Given the description of an element on the screen output the (x, y) to click on. 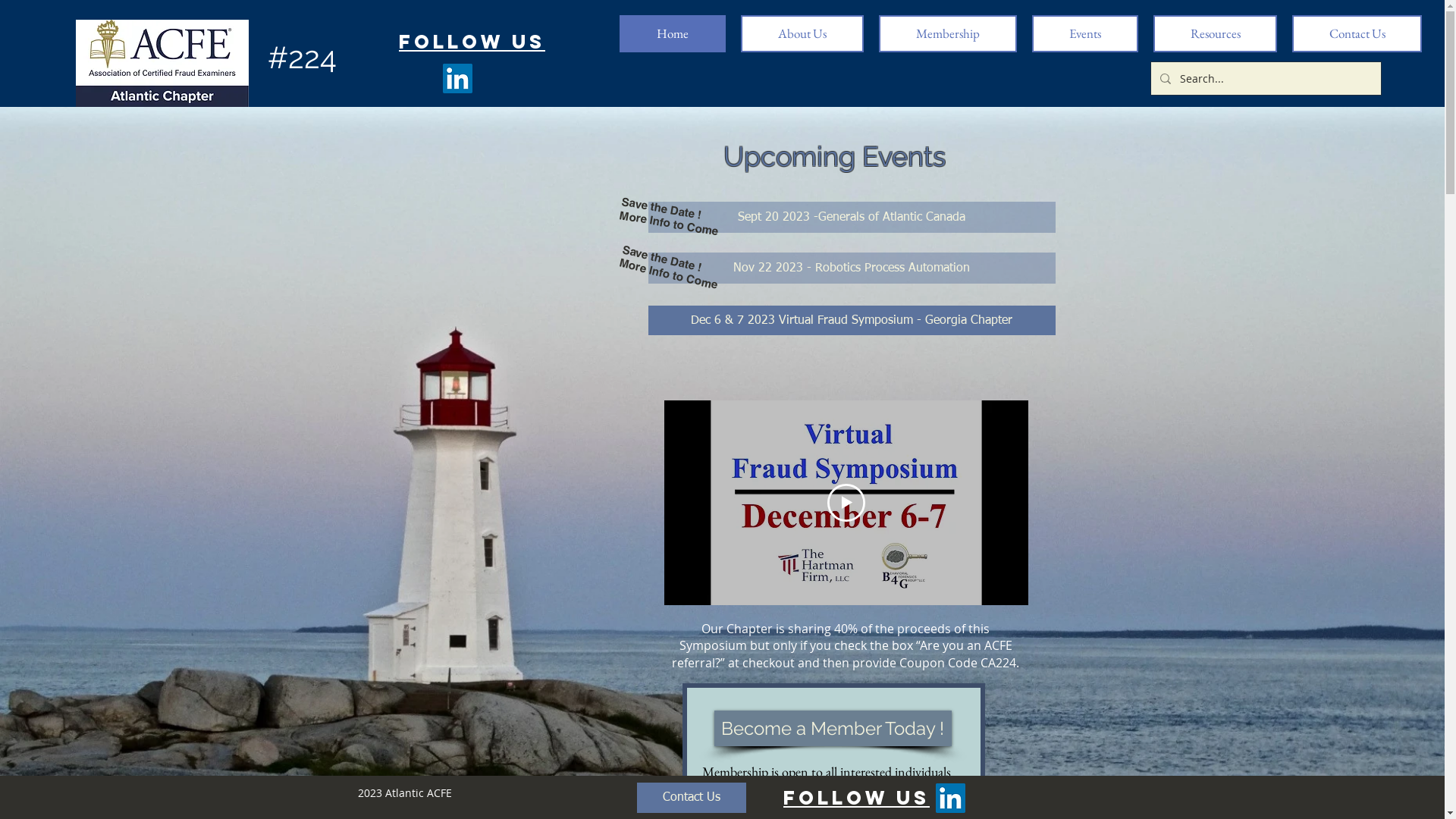
Contact Us Element type: text (691, 797)
Resources Element type: text (1215, 33)
Membership Element type: text (947, 33)
Events Element type: text (1085, 33)
About Us Element type: text (801, 33)
Become a Member Today ! Element type: text (832, 728)
follow US Element type: text (856, 798)
Contact Us Element type: text (1356, 33)
follow US Element type: text (471, 42)
Sept 20 2023 -Generals of Atlantic Canada Element type: text (850, 216)
Dec 6 & 7 2023 Virtual Fraud Symposium - Georgia Chapter Element type: text (850, 320)
Home Element type: text (672, 33)
